Given the description of an element on the screen output the (x, y) to click on. 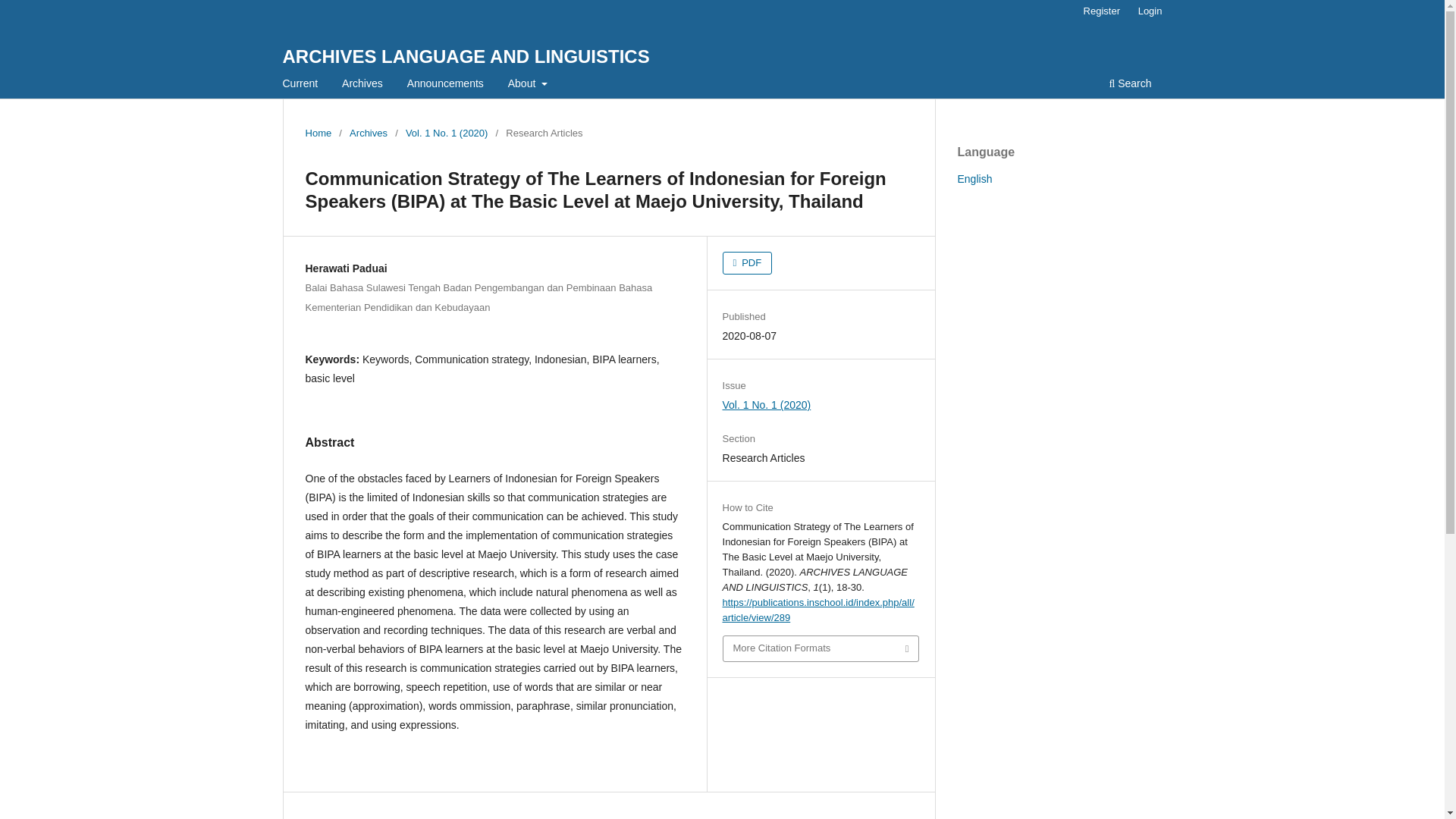
PDF (747, 262)
Archives (362, 85)
Login (1150, 11)
Announcements (445, 85)
Register (1100, 11)
Archives (368, 133)
Search (1129, 85)
More Citation Formats (820, 648)
Current (300, 85)
ARCHIVES LANGUAGE AND LINGUISTICS (465, 56)
